Given the description of an element on the screen output the (x, y) to click on. 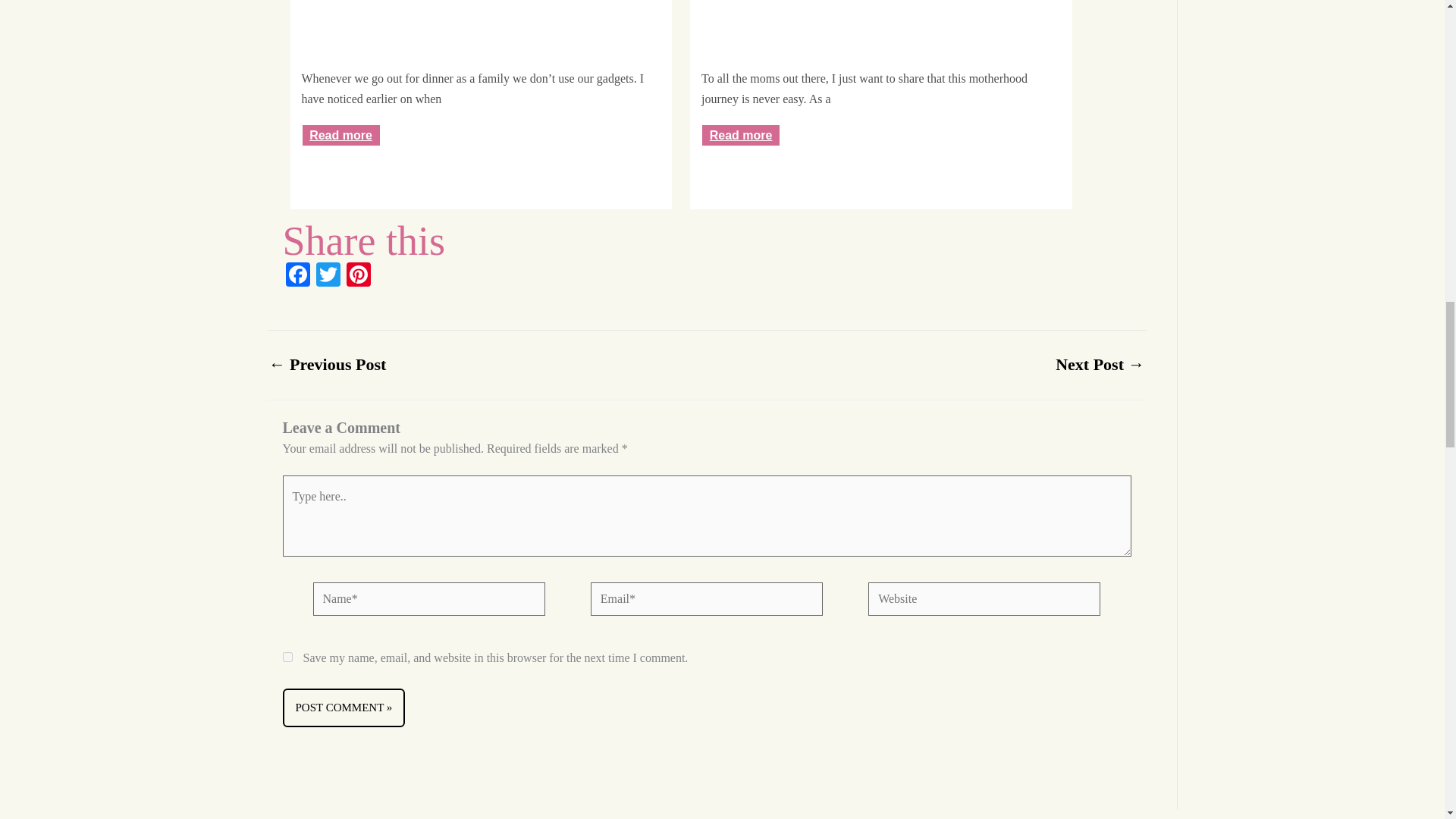
Dining Out Without Gadgets (481, 72)
Confession of a Mom of Four (881, 72)
yes (287, 656)
